Given the description of an element on the screen output the (x, y) to click on. 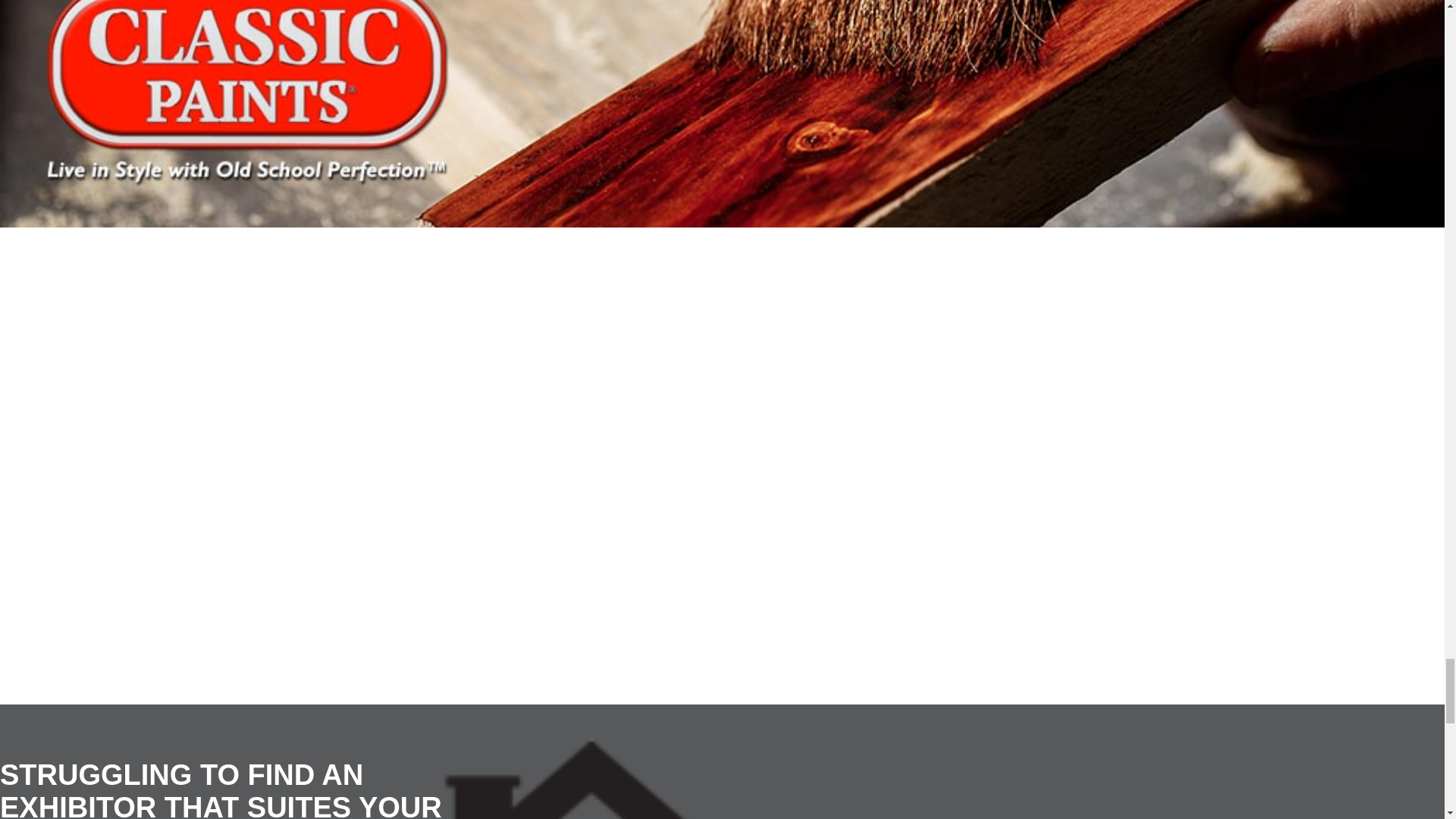
Building and Lifestyle Hub (505, 776)
